Given the description of an element on the screen output the (x, y) to click on. 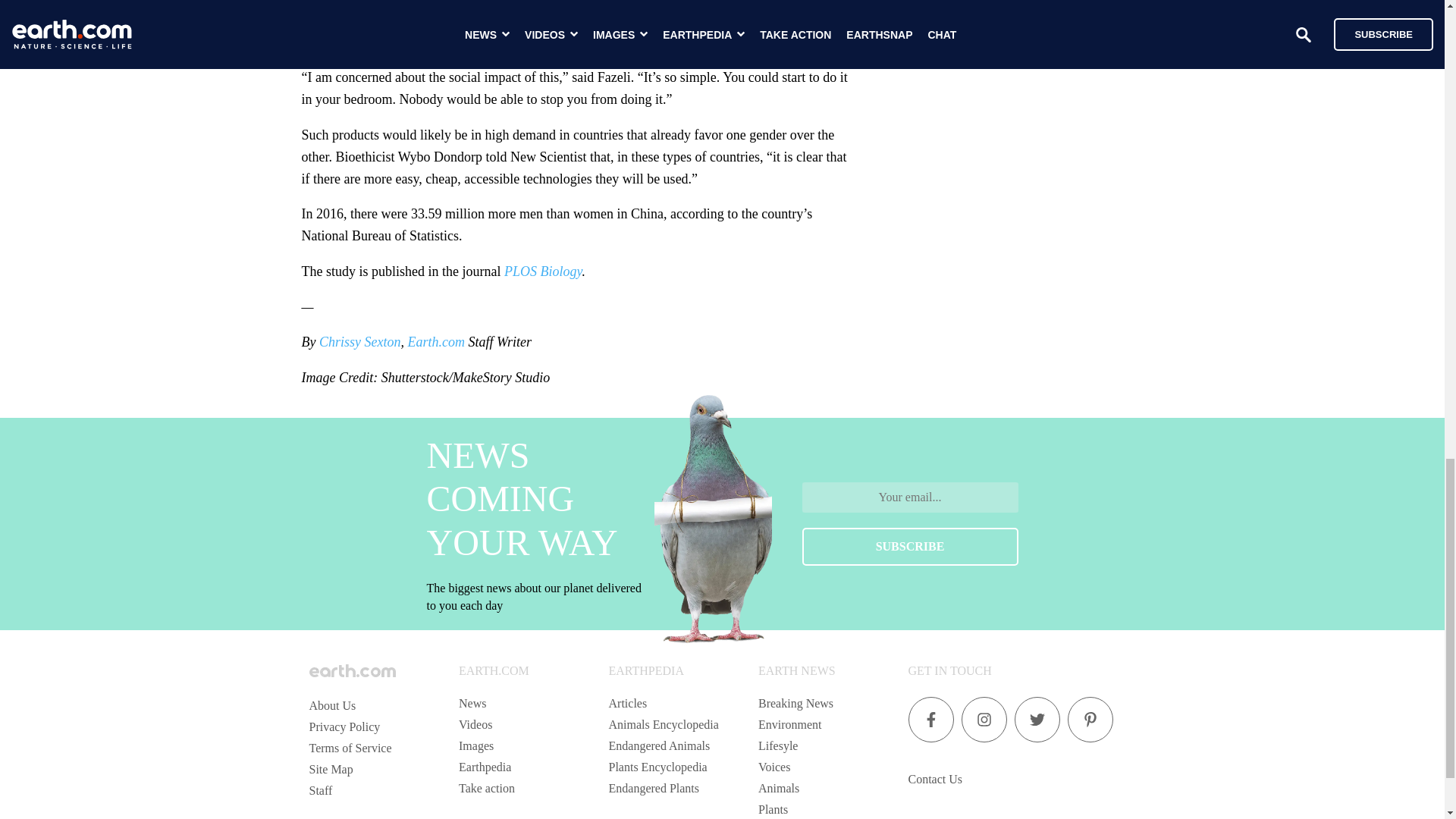
Chrissy Sexton (359, 341)
Earth.com (435, 341)
PLOS Biology (542, 271)
